Given the description of an element on the screen output the (x, y) to click on. 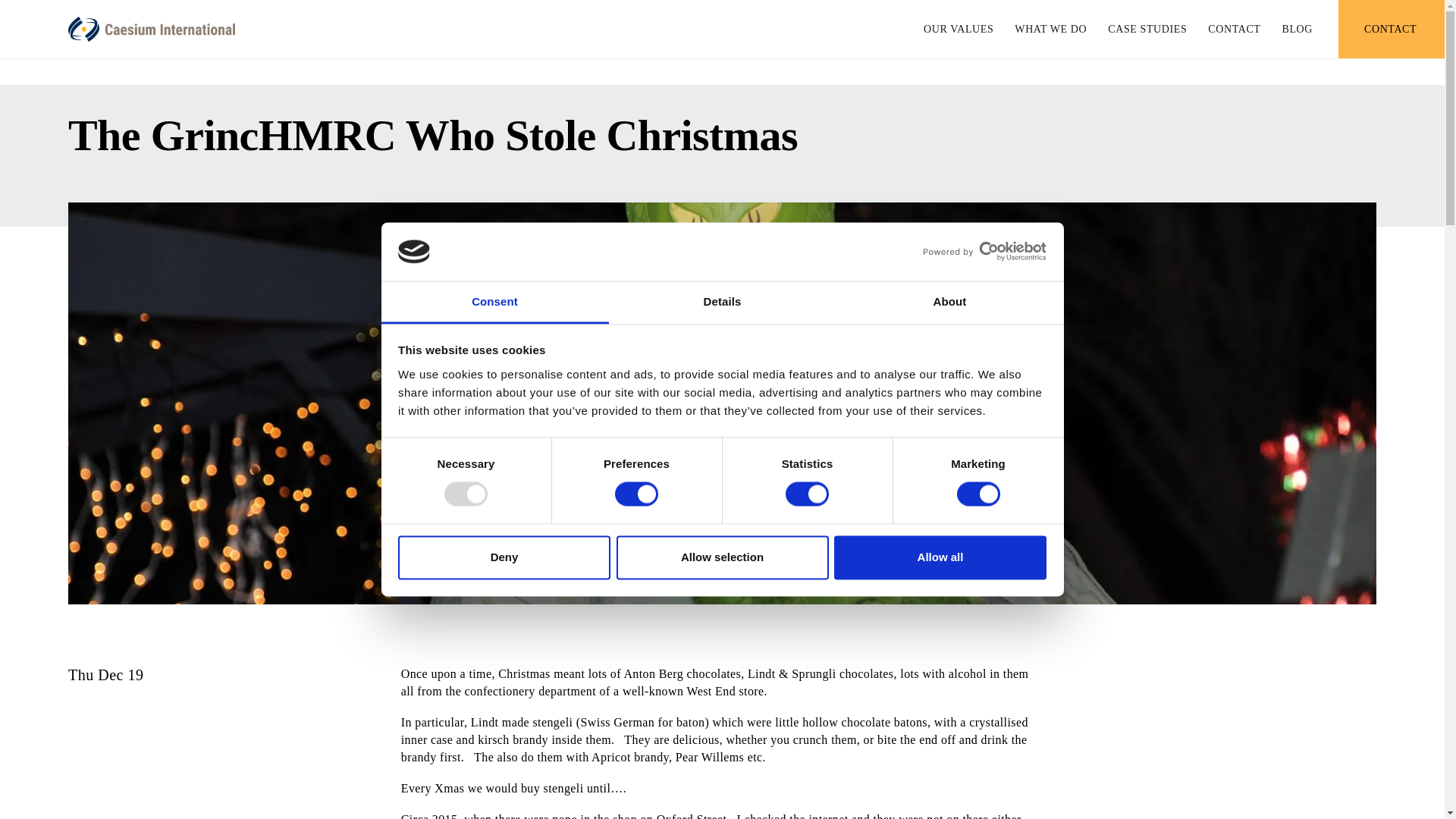
what-we-do (1050, 29)
Deny (503, 557)
Details (721, 302)
Allow all (940, 557)
Allow selection (721, 557)
CASE STUDIES (1147, 29)
Consent (494, 302)
CONTACT (1234, 29)
WHAT WE DO (1050, 29)
case-studies (1147, 29)
OUR VALUES (957, 29)
BLOG (1297, 29)
submit (1221, 239)
About (948, 302)
